Given the description of an element on the screen output the (x, y) to click on. 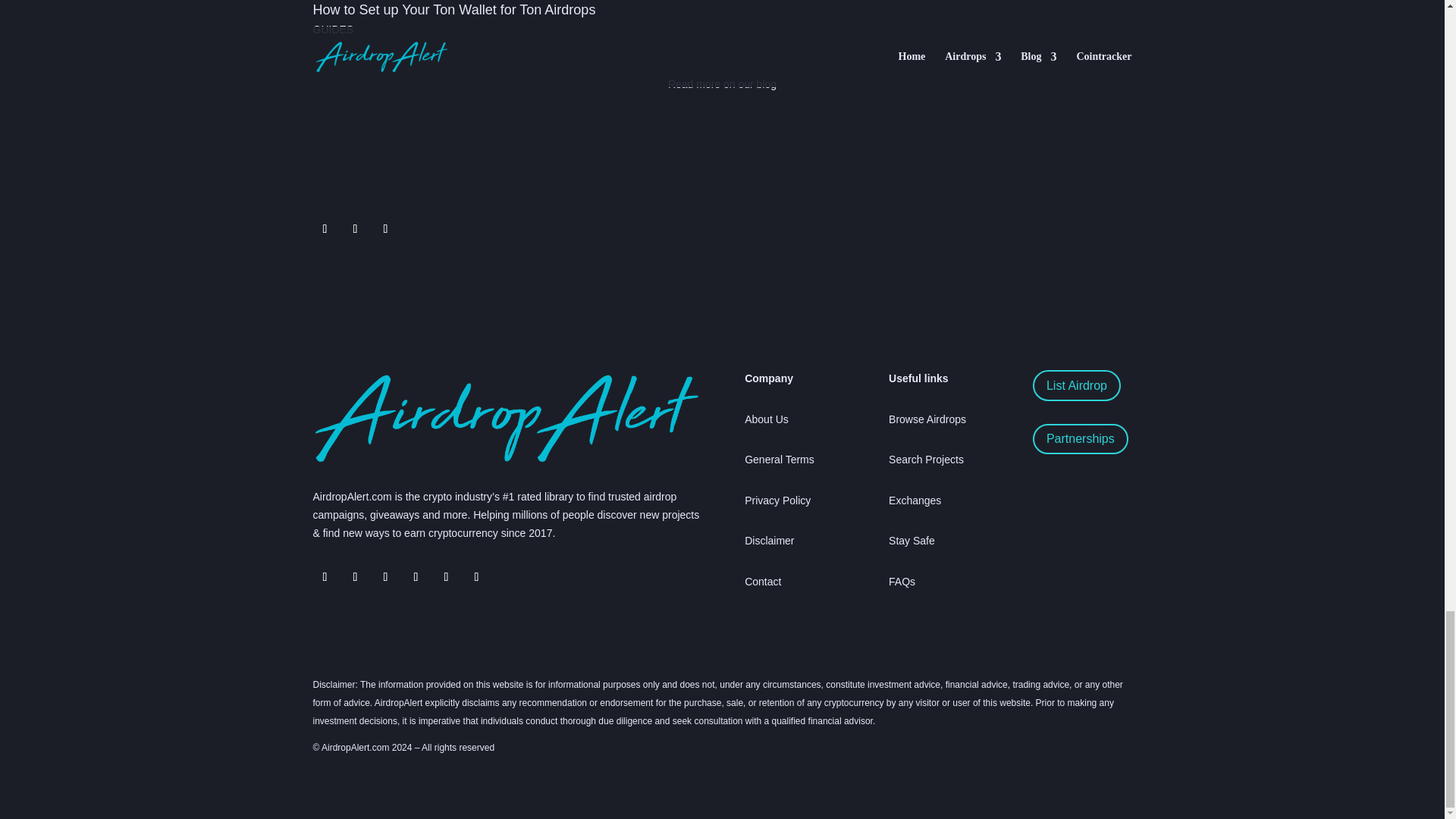
Follow on X (354, 576)
Follow on X (324, 228)
airdrop-alert-logo (505, 418)
Follow on Instagram (415, 576)
Follow on Facebook (384, 576)
Follow on Telegram (324, 576)
Follow on Youtube (445, 576)
Follow on Telegram (354, 228)
Follow on Facebook (384, 228)
